Given the description of an element on the screen output the (x, y) to click on. 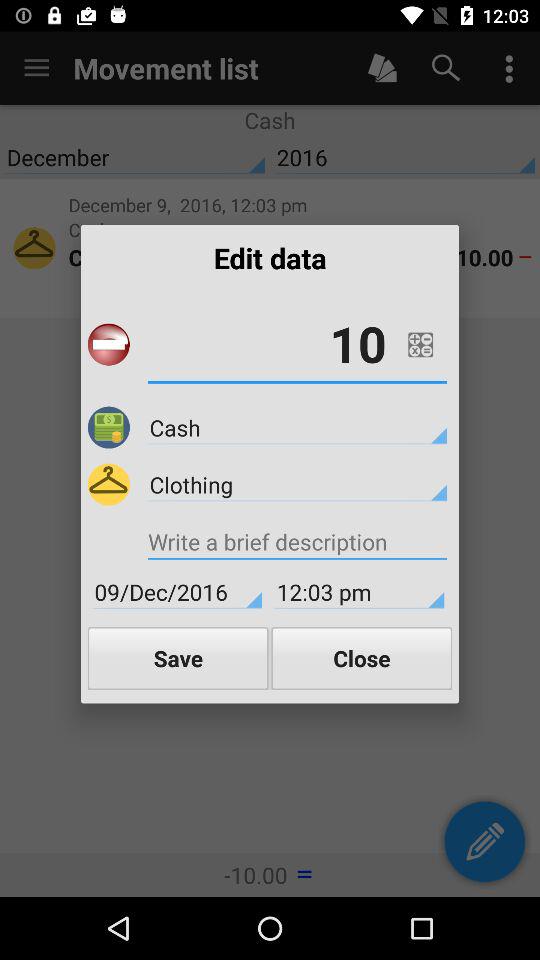
turn on the 10 item (297, 344)
